Given the description of an element on the screen output the (x, y) to click on. 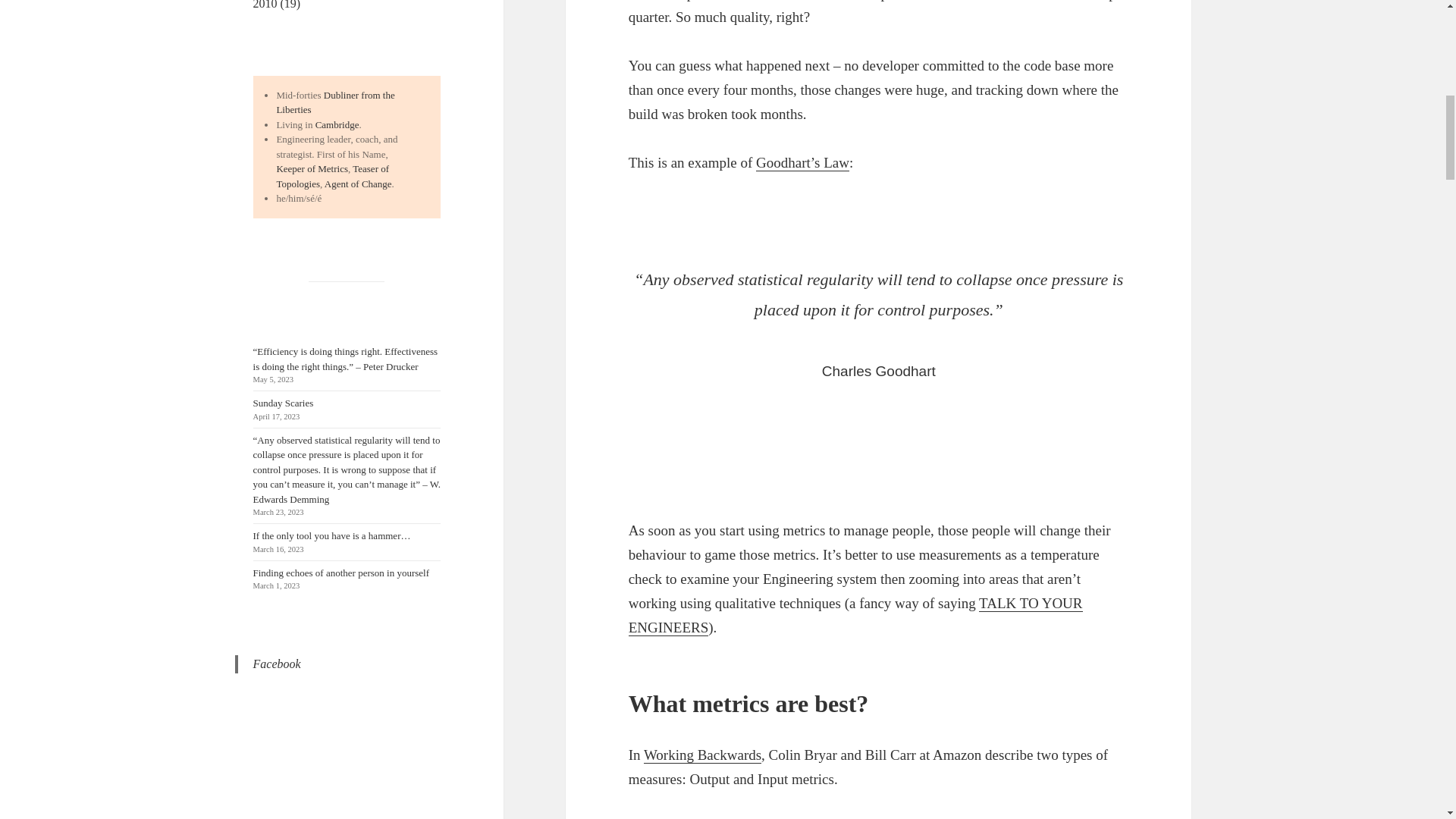
Dubliner from the Liberties (335, 102)
TALK TO YOUR ENGINEERS (855, 615)
Finding echoes of another person in yourself (341, 572)
Agent of Change (357, 183)
Cambridge (337, 124)
Teaser of Topologies (332, 175)
Sunday Scaries (283, 402)
Keeper of Metrics (311, 168)
Working Backwards (702, 754)
Facebook (277, 663)
